Given the description of an element on the screen output the (x, y) to click on. 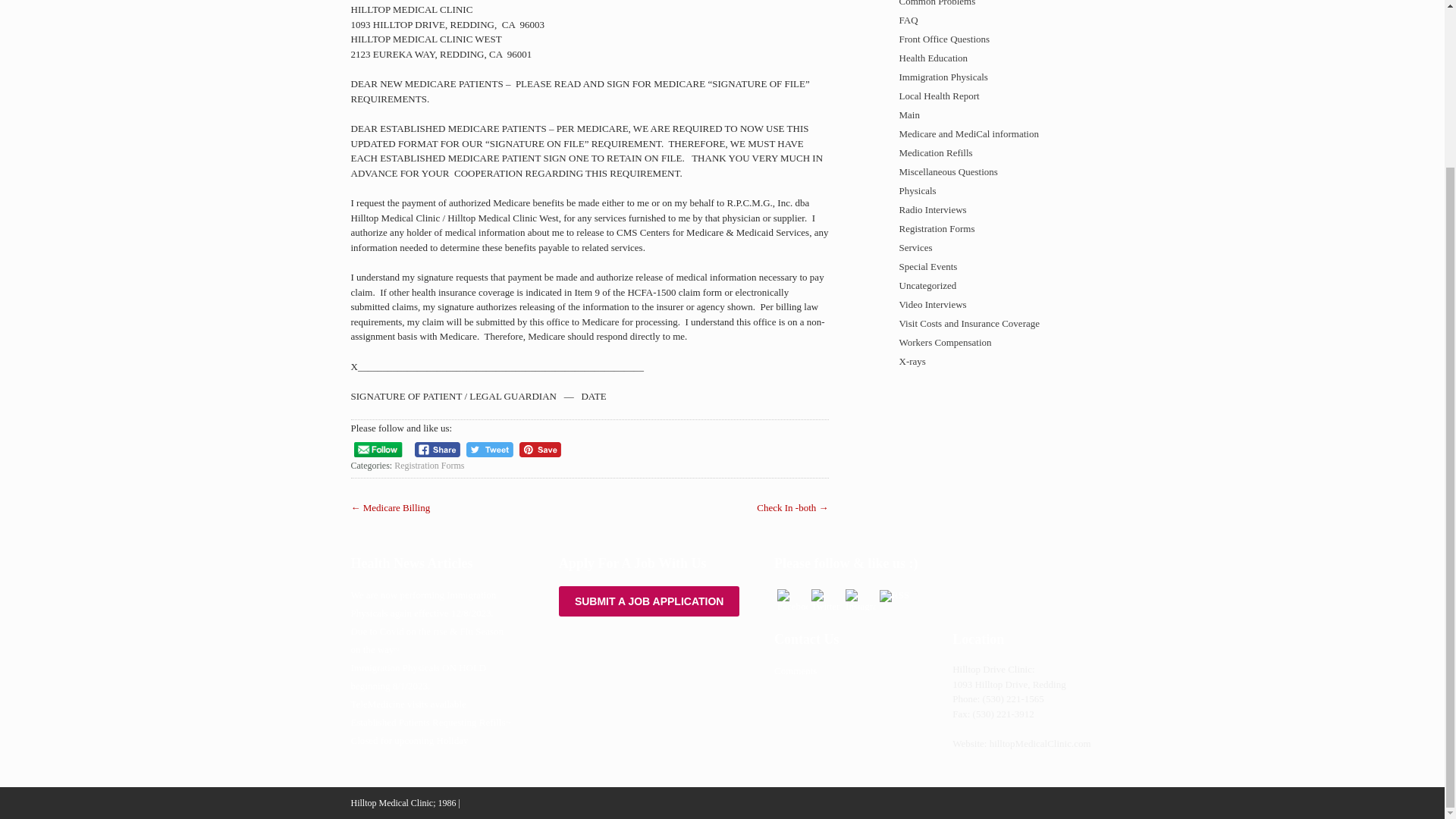
Common Problems (984, 5)
Local Health Report (984, 95)
FAQ (984, 19)
Facebook (792, 599)
PDFfiller.com:  (649, 601)
Facebook Share (437, 449)
Health Education (984, 57)
Tweet (489, 449)
Pin Share (539, 449)
Registration Forms (429, 465)
